Given the description of an element on the screen output the (x, y) to click on. 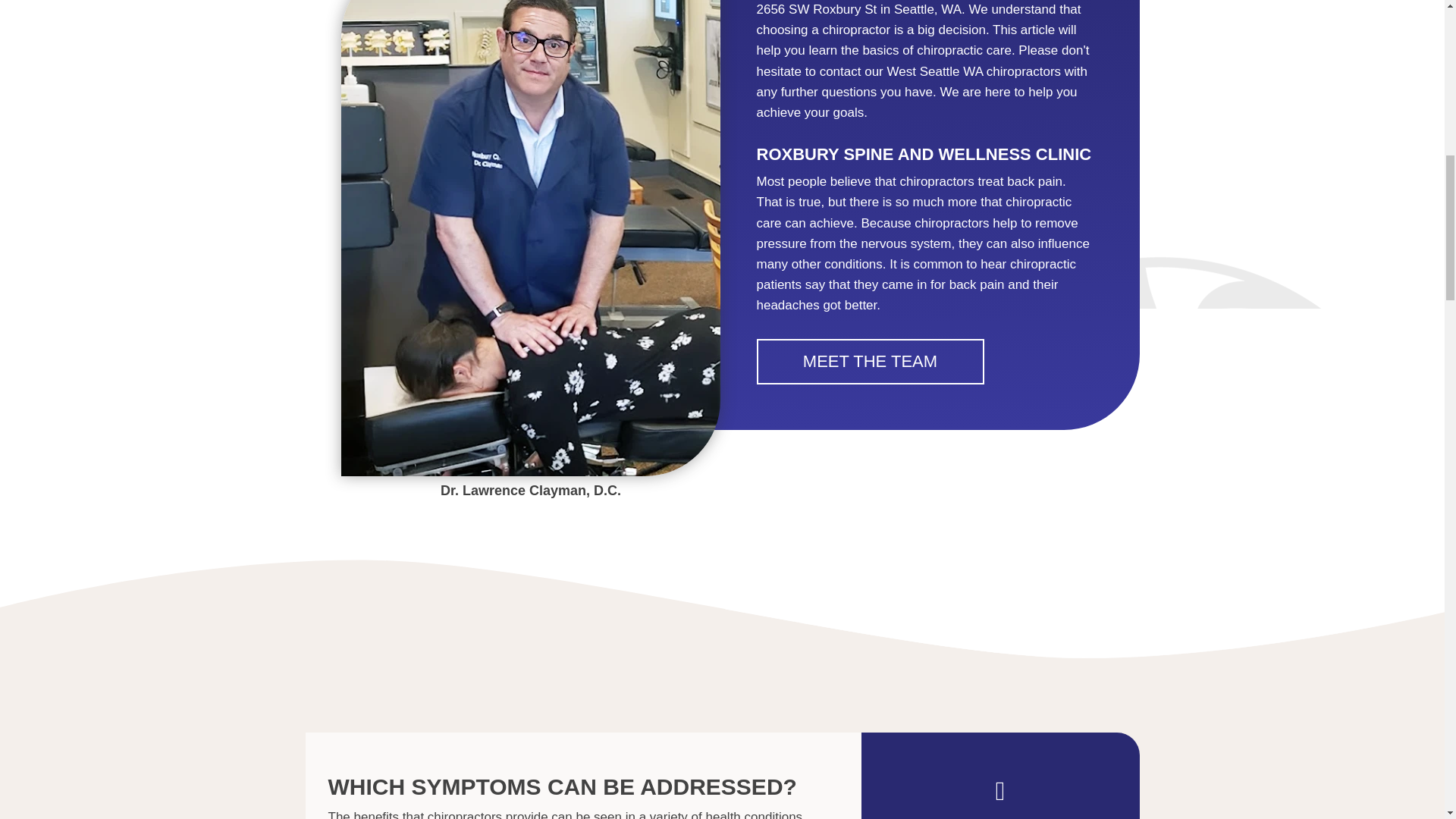
Click Here (870, 361)
